Given the description of an element on the screen output the (x, y) to click on. 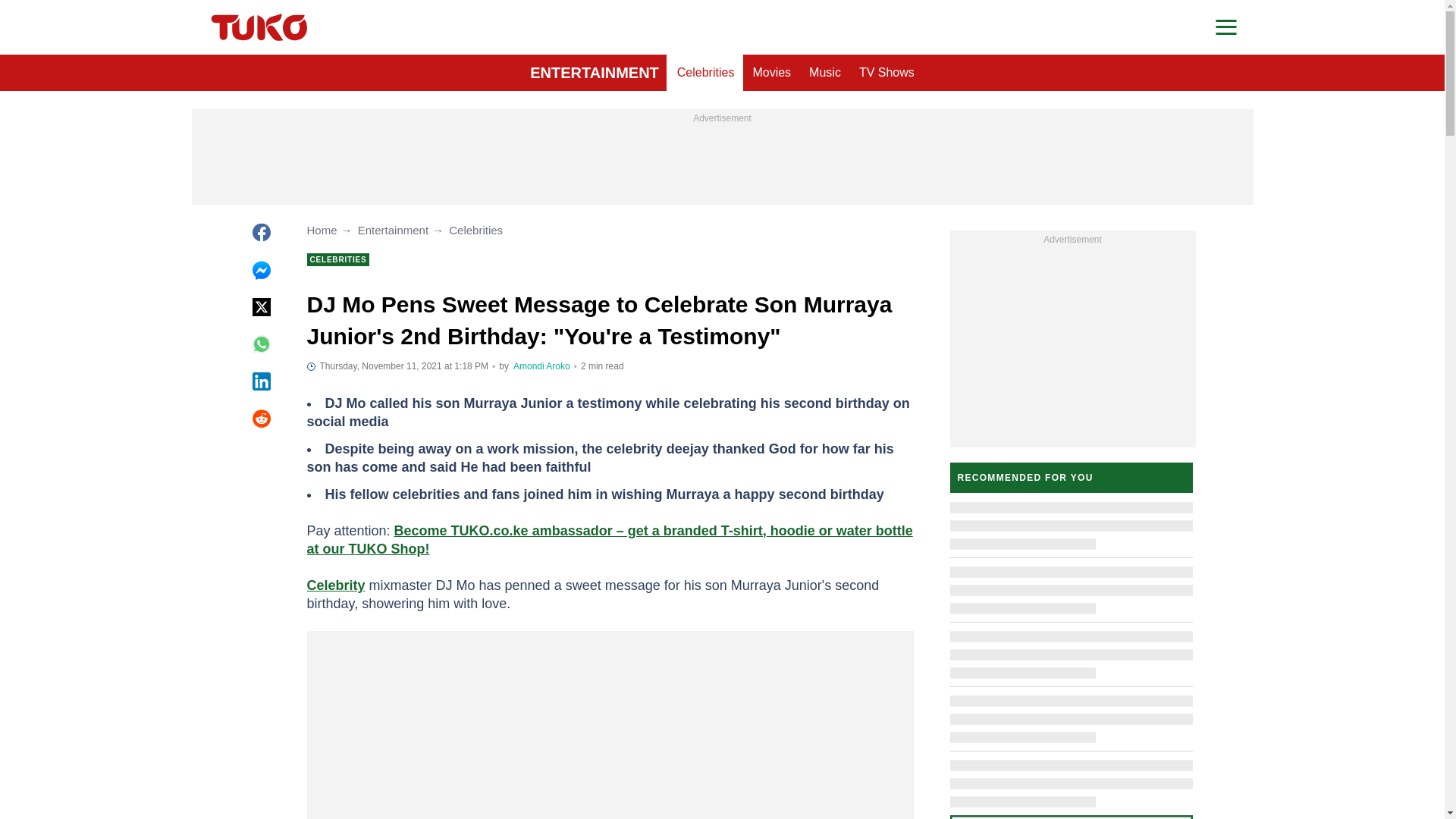
Author page (541, 366)
Movies (770, 72)
Celebrities (706, 72)
TV Shows (886, 72)
ENTERTAINMENT (594, 72)
Music (824, 72)
